Given the description of an element on the screen output the (x, y) to click on. 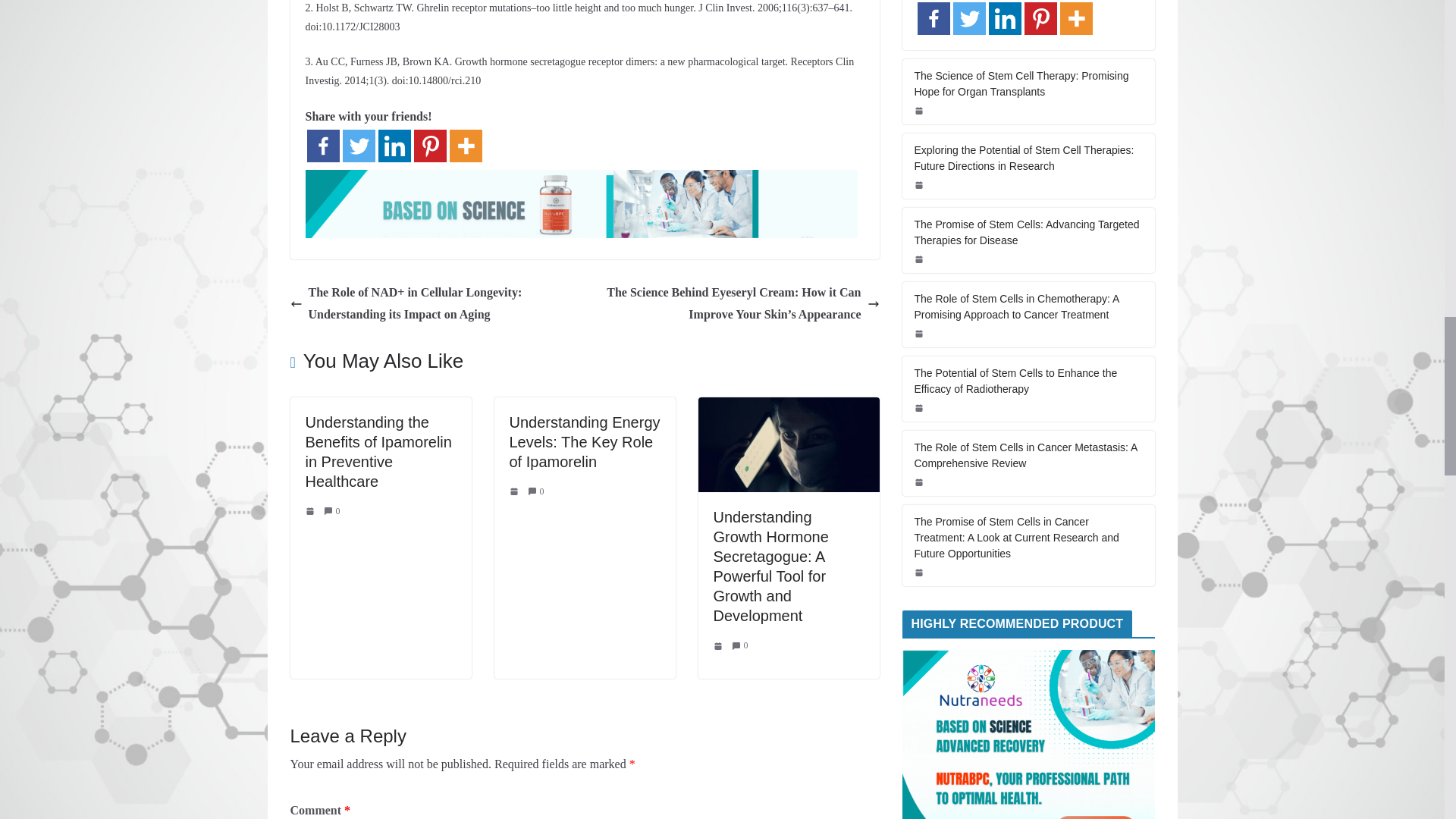
Facebook (322, 145)
Pinterest (429, 145)
Linkedin (393, 145)
Twitter (358, 145)
More (464, 145)
12:10 pm (310, 510)
